Given the description of an element on the screen output the (x, y) to click on. 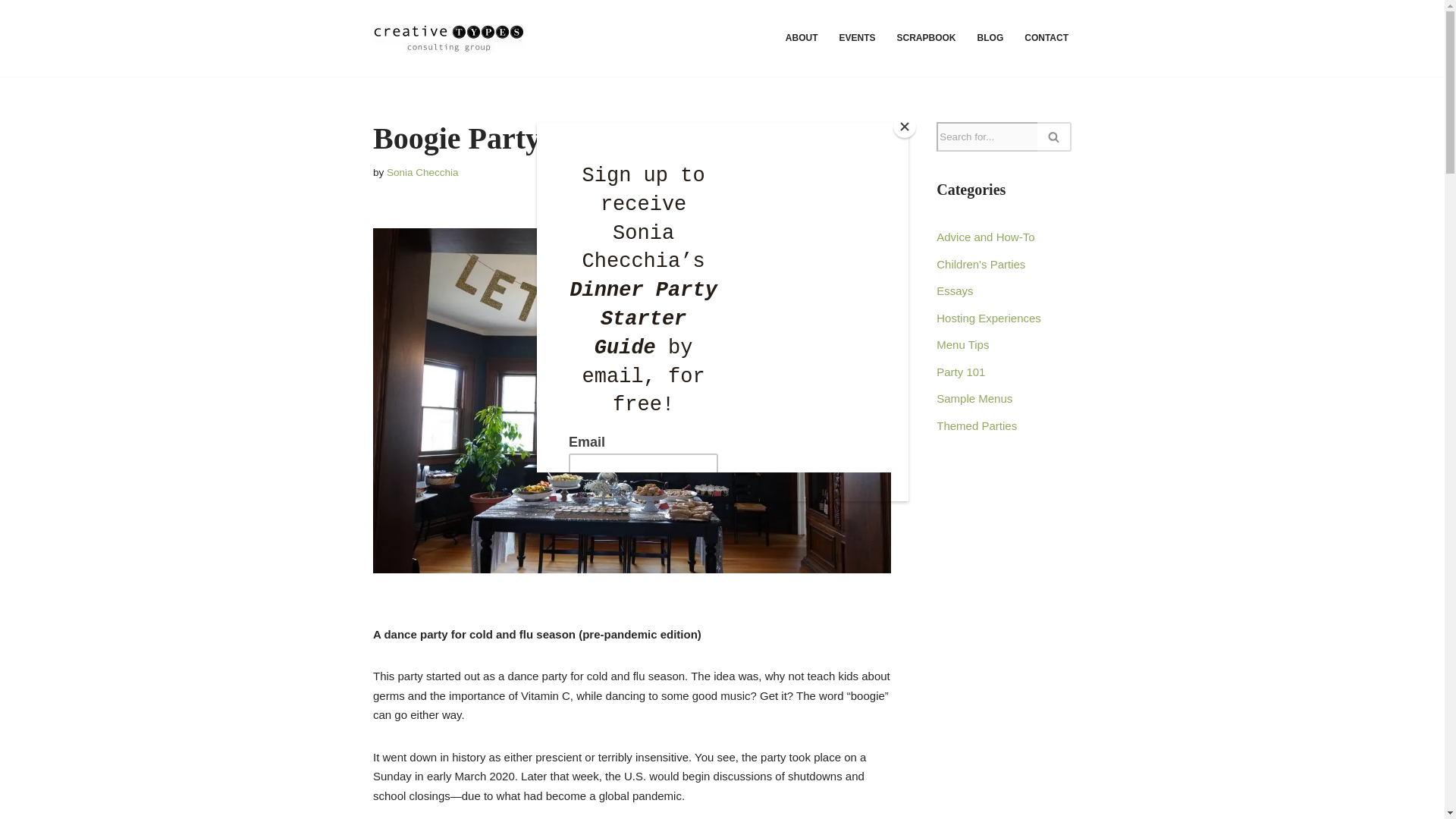
Hosting Experiences (988, 317)
Party 101 (960, 371)
Posts by Sonia Checchia (422, 172)
BLOG (990, 37)
Children's Parties (980, 264)
CONTACT (1046, 37)
EVENTS (858, 37)
Menu Tips (962, 344)
Themed Parties (976, 424)
Essays (954, 290)
Sonia Checchia (422, 172)
Sample Menus (973, 398)
Skip to content (11, 31)
SCRAPBOOK (926, 37)
ABOUT (802, 37)
